Given the description of an element on the screen output the (x, y) to click on. 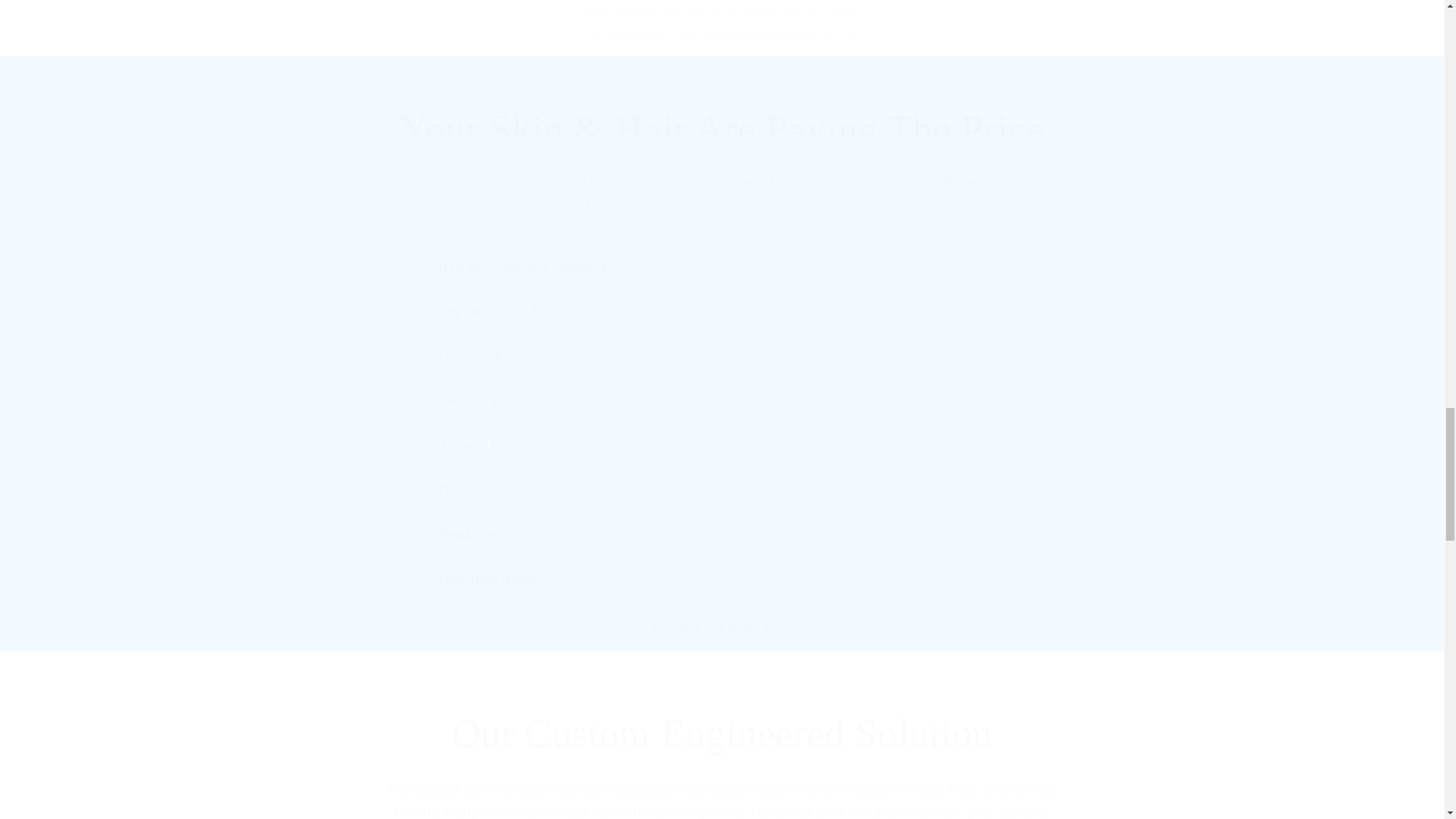
Our Custom Engineered Solution (721, 734)
and the list goes on!!! (721, 626)
